Given the description of an element on the screen output the (x, y) to click on. 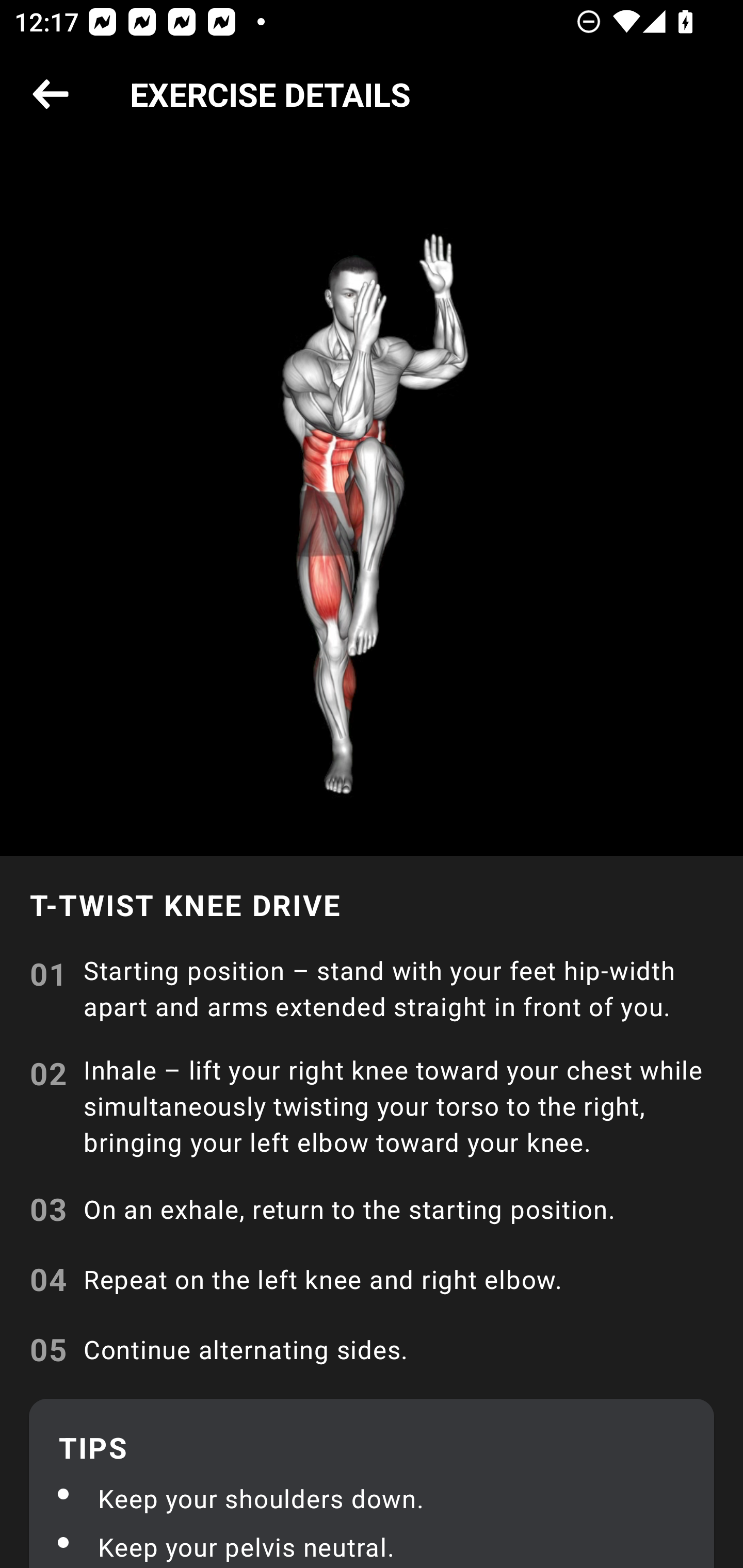
Back Icon (50, 94)
